Given the description of an element on the screen output the (x, y) to click on. 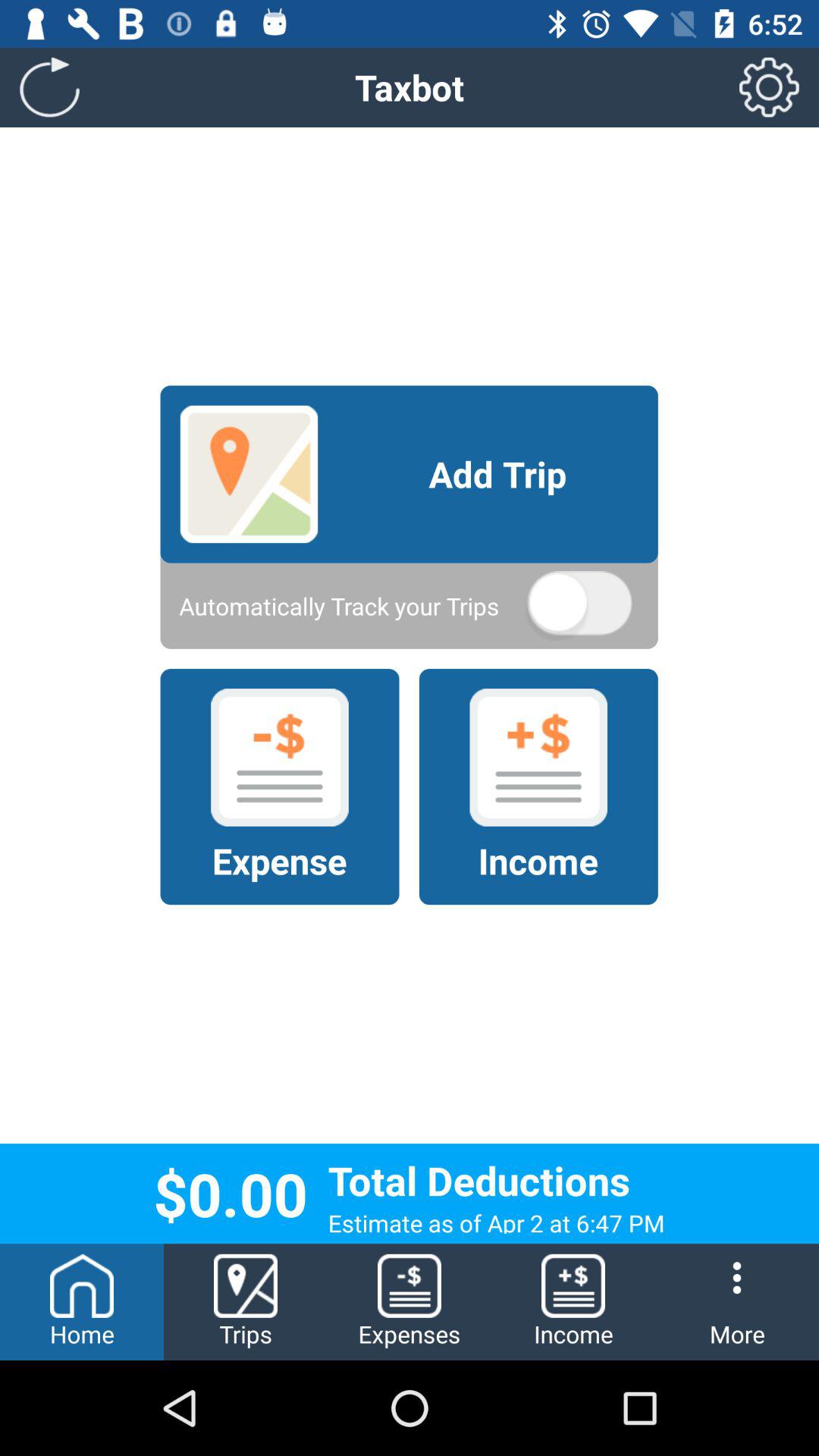
turn off app to the left of taxbot app (49, 87)
